Given the description of an element on the screen output the (x, y) to click on. 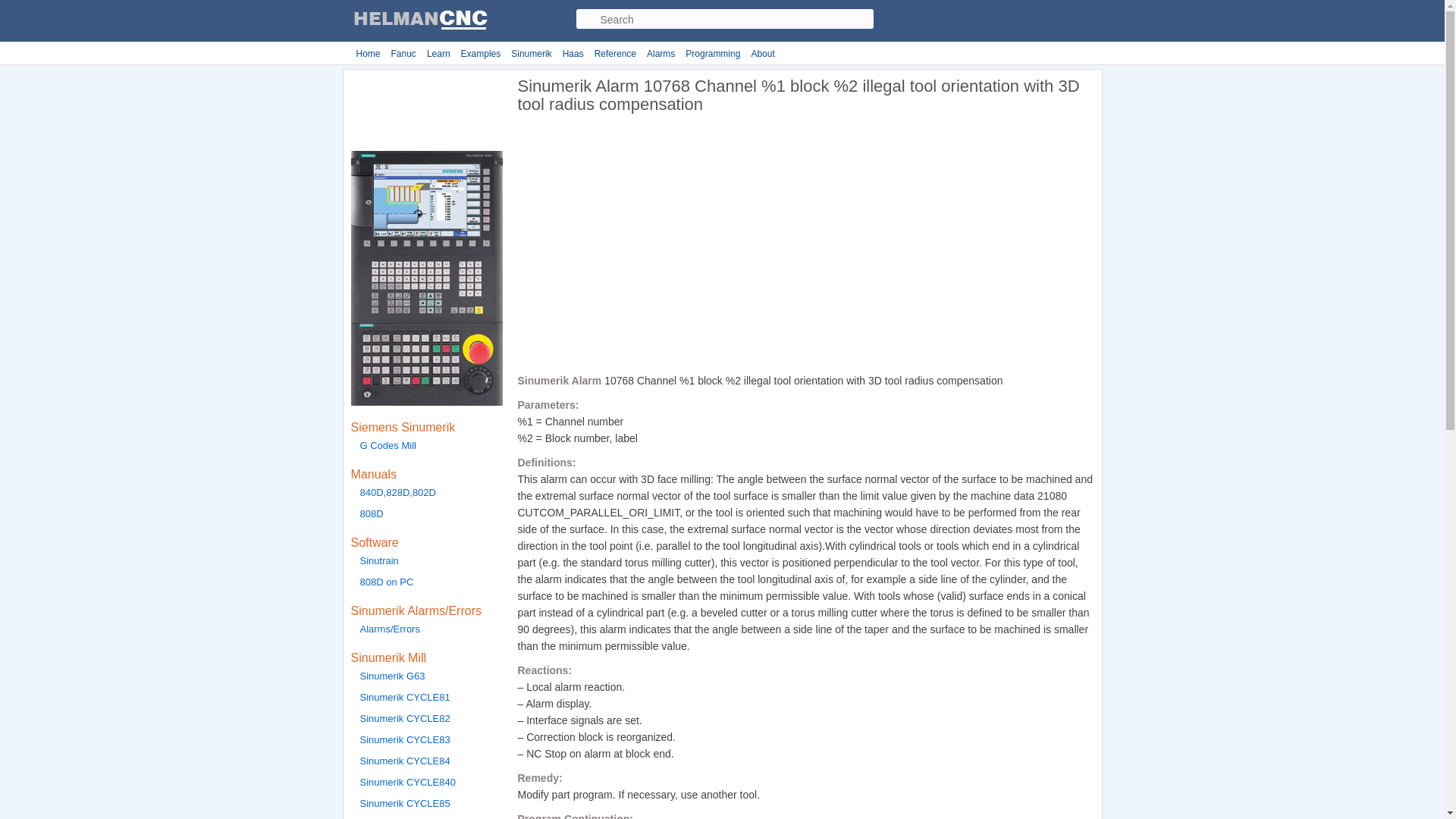
Sinumerik CYCLE83 (426, 741)
840D,828D,802D (426, 494)
Fanuc (403, 54)
Reference (615, 54)
Examples (480, 54)
Home (367, 54)
Sinutrain (426, 562)
Sinumerik CYCLE84 (426, 762)
Sinumerik G63 (426, 677)
808D (426, 515)
